Given the description of an element on the screen output the (x, y) to click on. 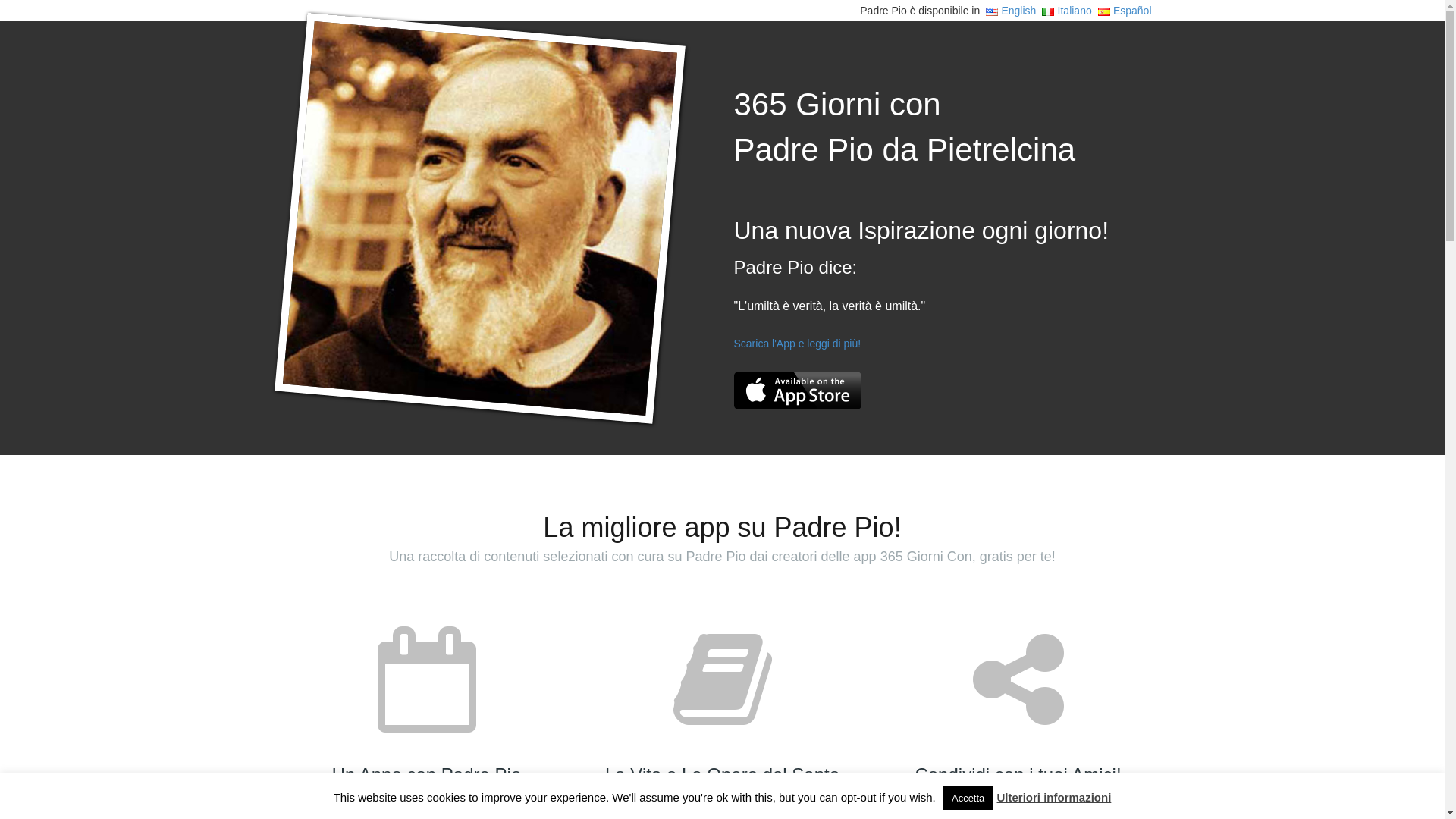
365 Giorni con
Padre Pio da Pietrelcina Element type: text (905, 126)
Accetta Element type: text (967, 797)
Ulteriori informazioni Element type: text (1053, 796)
Italiano Element type: text (1066, 10)
English Element type: text (1010, 10)
Scarica l'App Element type: hover (797, 390)
